Given the description of an element on the screen output the (x, y) to click on. 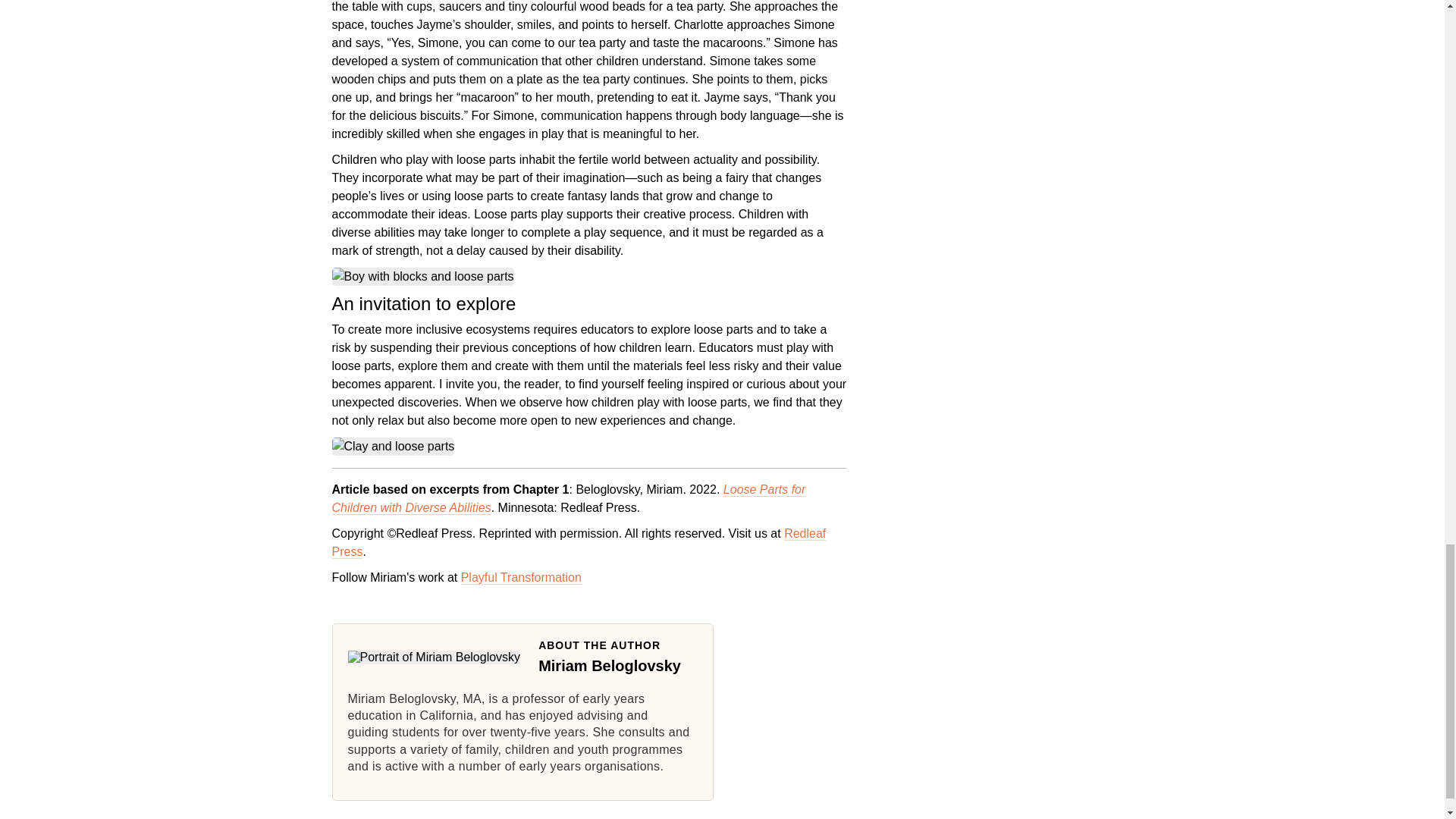
Opens in a new window (520, 577)
Opens in a new window (568, 499)
Opens in a new window (579, 542)
